Given the description of an element on the screen output the (x, y) to click on. 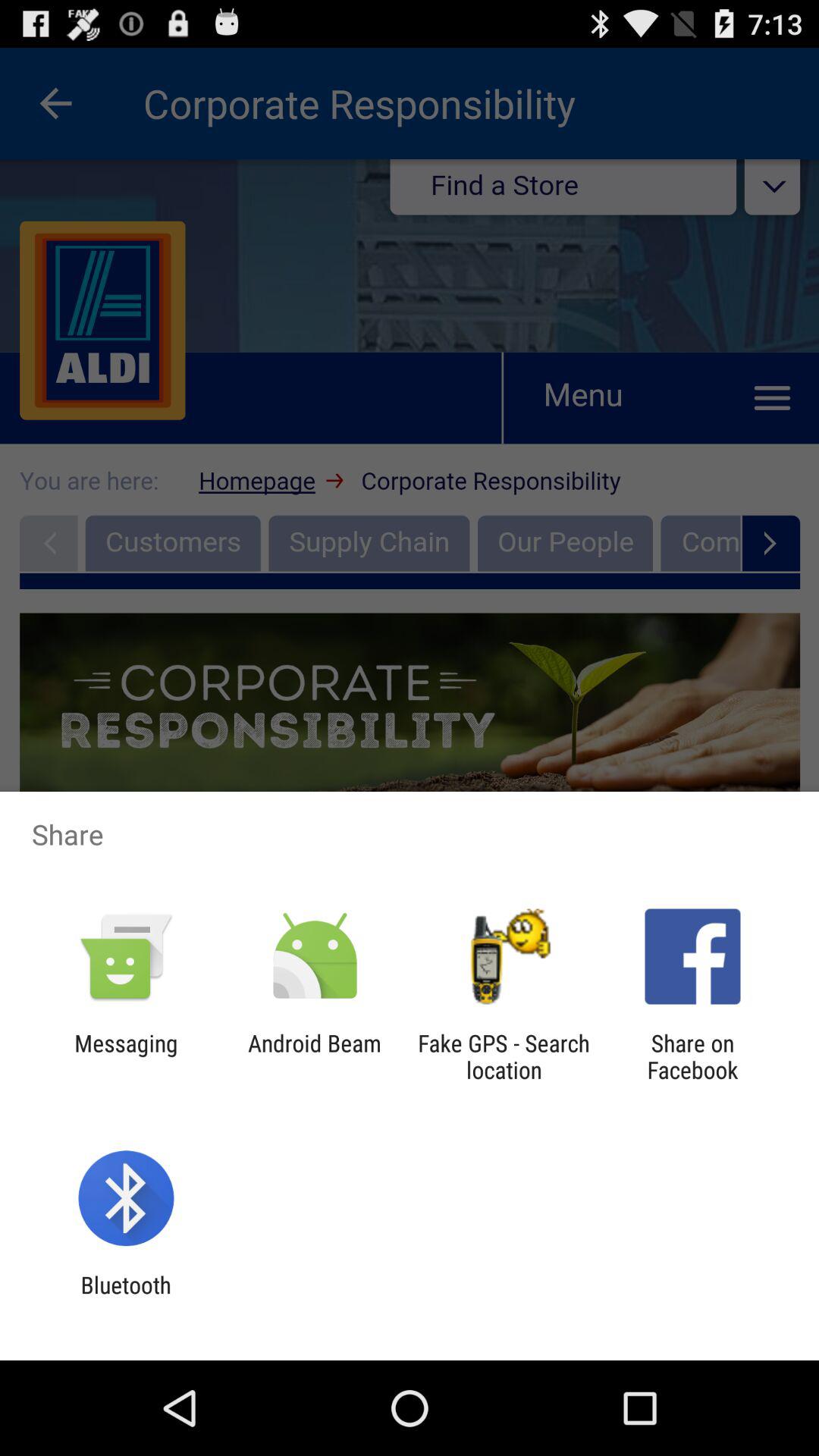
scroll until fake gps search icon (503, 1056)
